Given the description of an element on the screen output the (x, y) to click on. 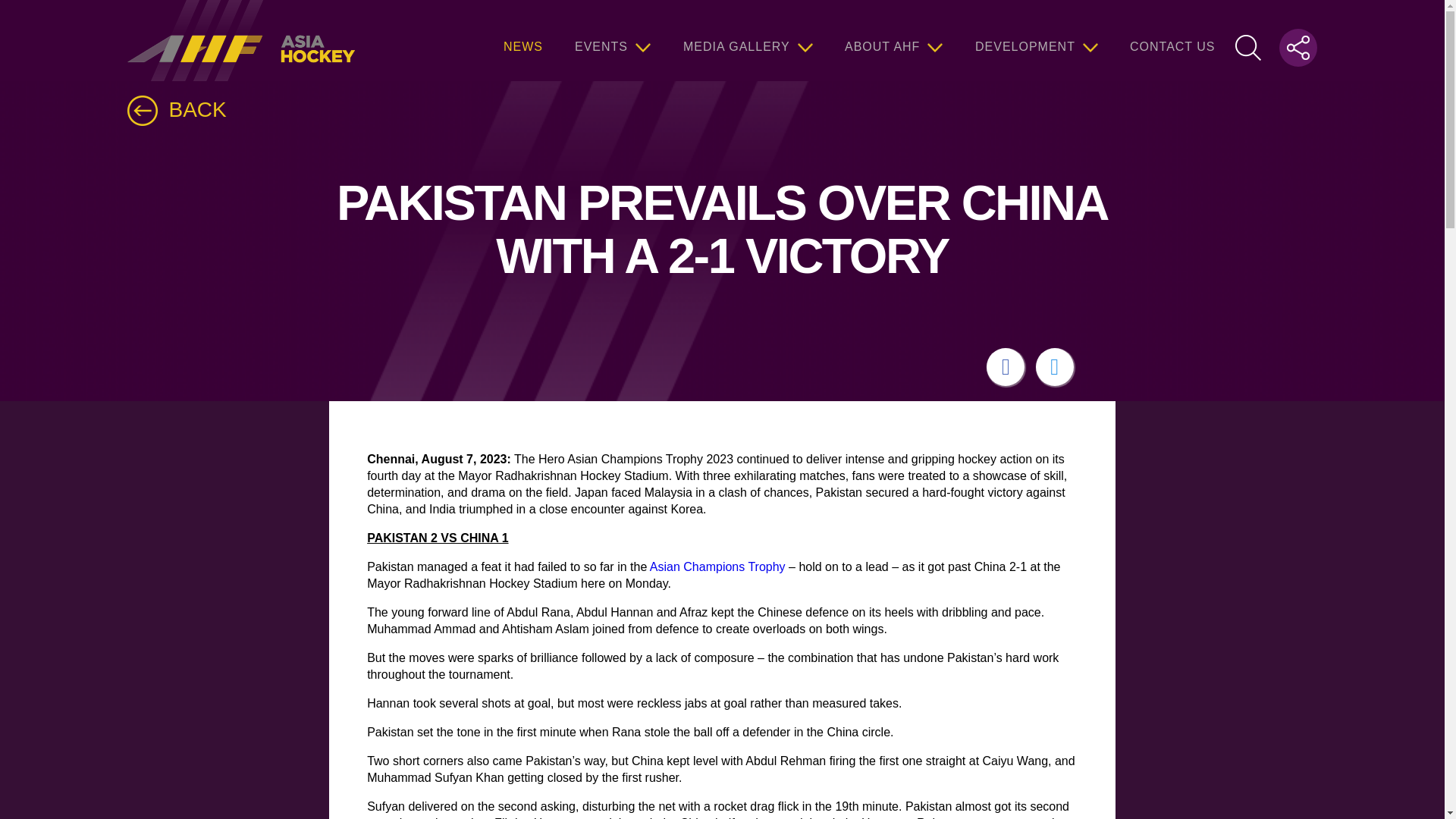
CONTACT US (1172, 40)
DEVELOPMENT (1036, 40)
EVENTS (612, 40)
MEDIA GALLERY (747, 40)
ABOUT AHF (892, 40)
